Given the description of an element on the screen output the (x, y) to click on. 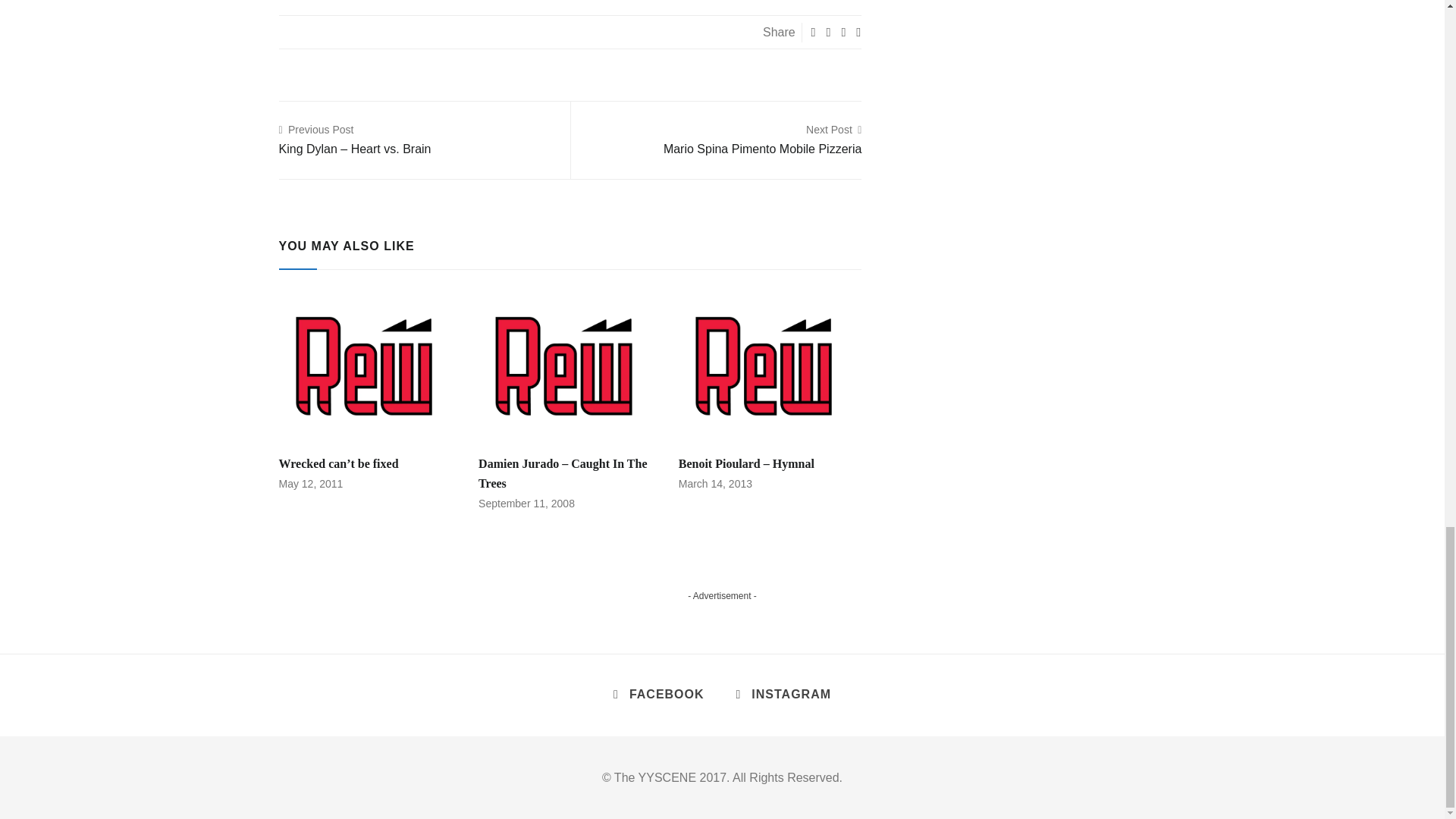
May 12, 2011 (311, 483)
September 11, 2008 (762, 139)
